Given the description of an element on the screen output the (x, y) to click on. 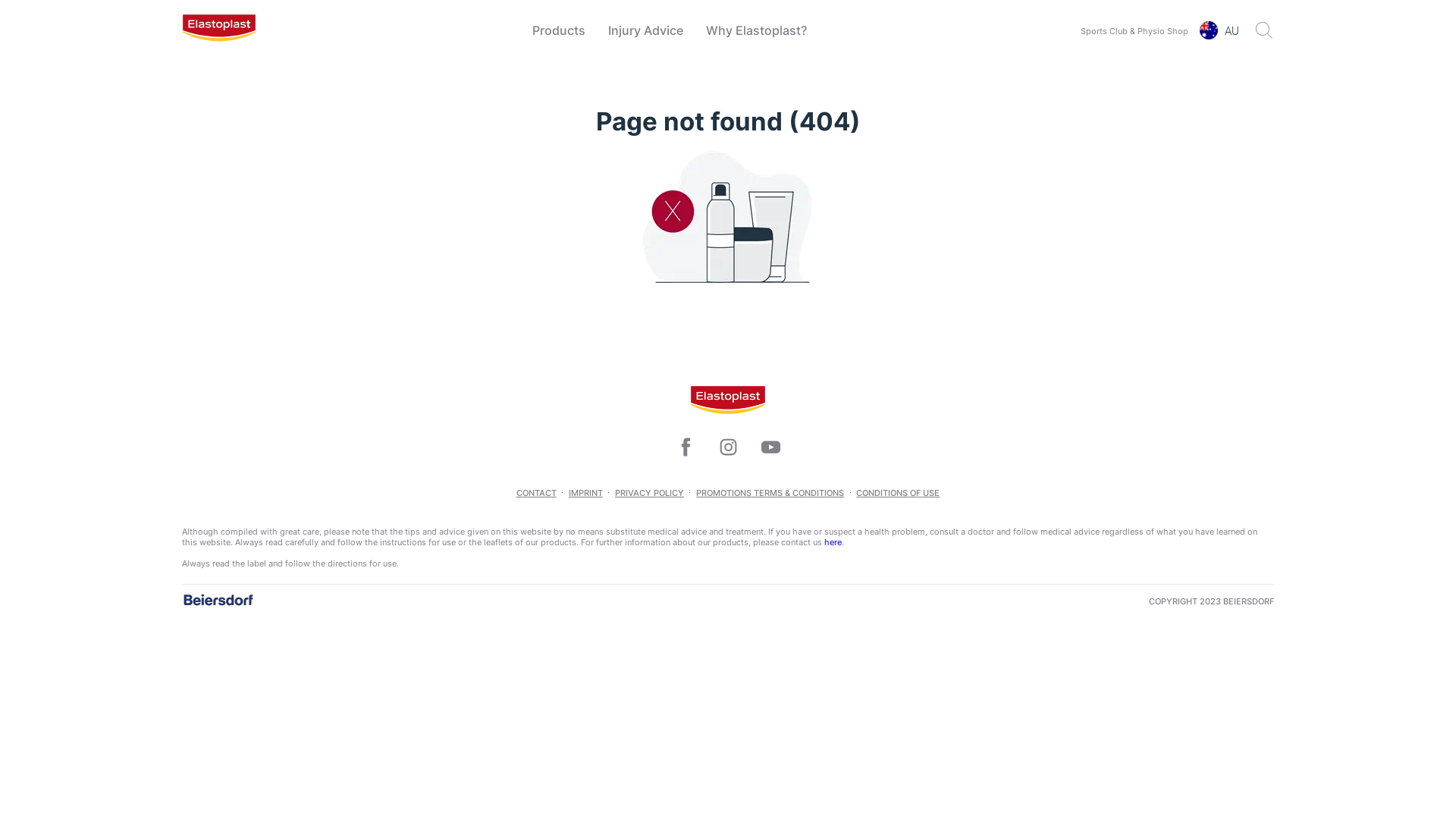
Products Element type: text (558, 30)
IMPRINT Element type: text (585, 492)
here Element type: text (832, 541)
PROMOTIONS TERMS & CONDITIONS Element type: text (770, 492)
CONDITIONS OF USE Element type: text (897, 492)
PRIVACY POLICY Element type: text (649, 492)
Injury Advice Element type: text (644, 30)
Why Elastoplast? Element type: text (756, 30)
Sports Club & Physio Shop Element type: text (1134, 28)
CONTACT Element type: text (536, 492)
